Given the description of an element on the screen output the (x, y) to click on. 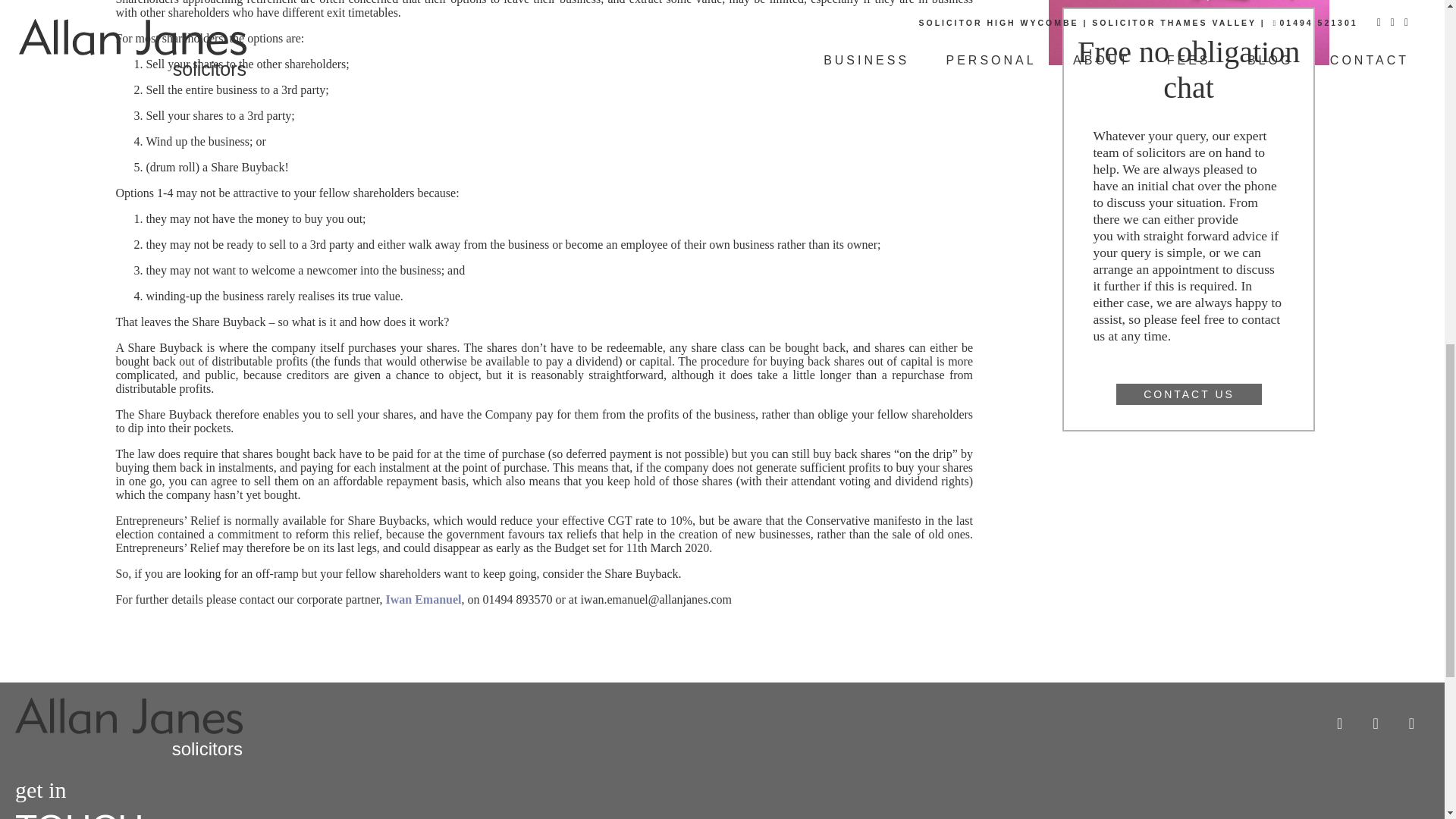
AJlogoAsset 2 (128, 715)
